Given the description of an element on the screen output the (x, y) to click on. 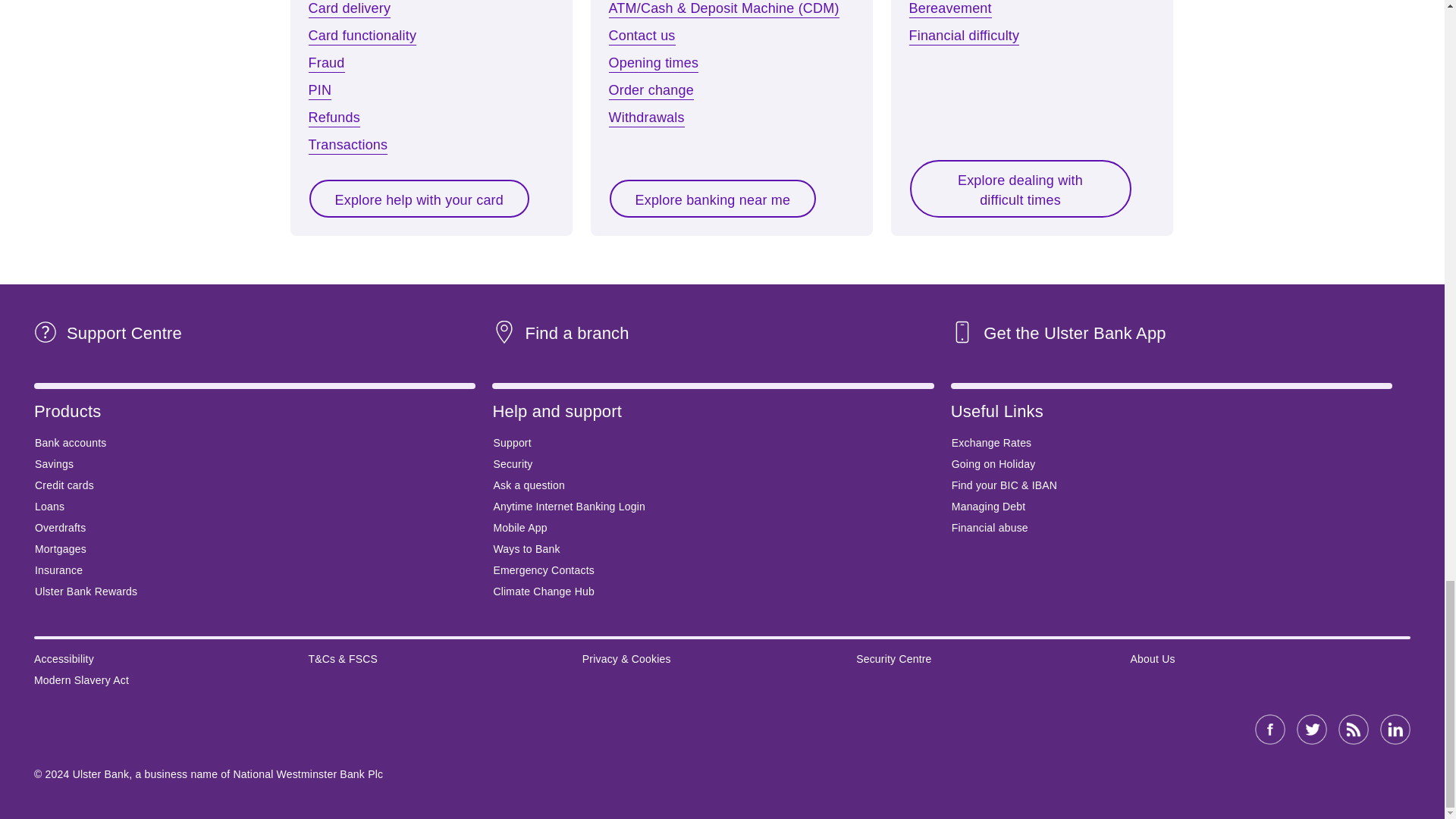
Explore banking near me (712, 198)
Explore help with your card (418, 198)
Explore dealing with difficult times (1019, 188)
